Given the description of an element on the screen output the (x, y) to click on. 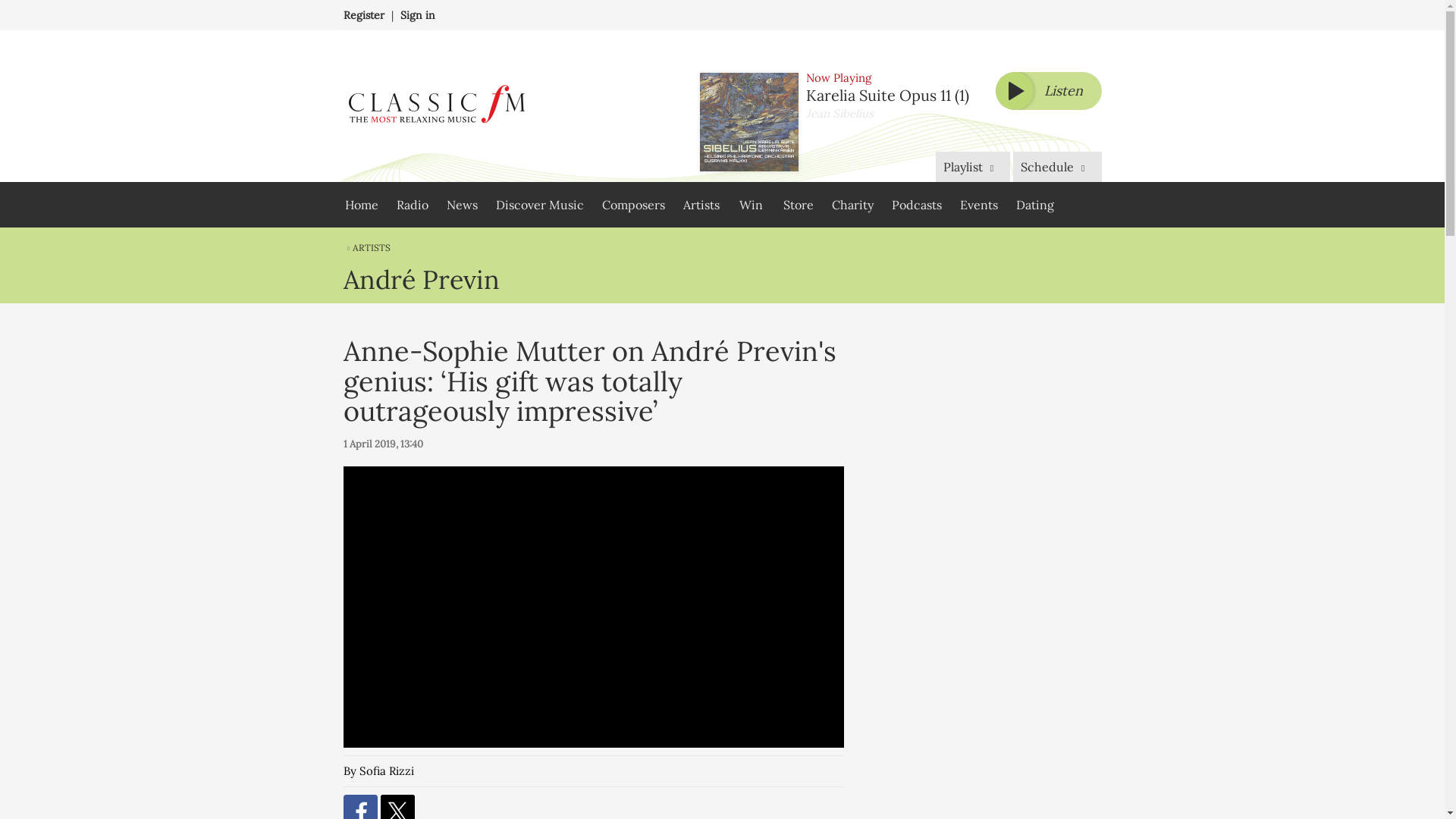
Schedule (1056, 166)
Sign in (417, 15)
Store (797, 204)
Listen (1047, 90)
News (461, 204)
Classic FM (435, 106)
Discover Music (539, 204)
Register (363, 15)
Dating (1034, 204)
ARTISTS (366, 247)
